Given the description of an element on the screen output the (x, y) to click on. 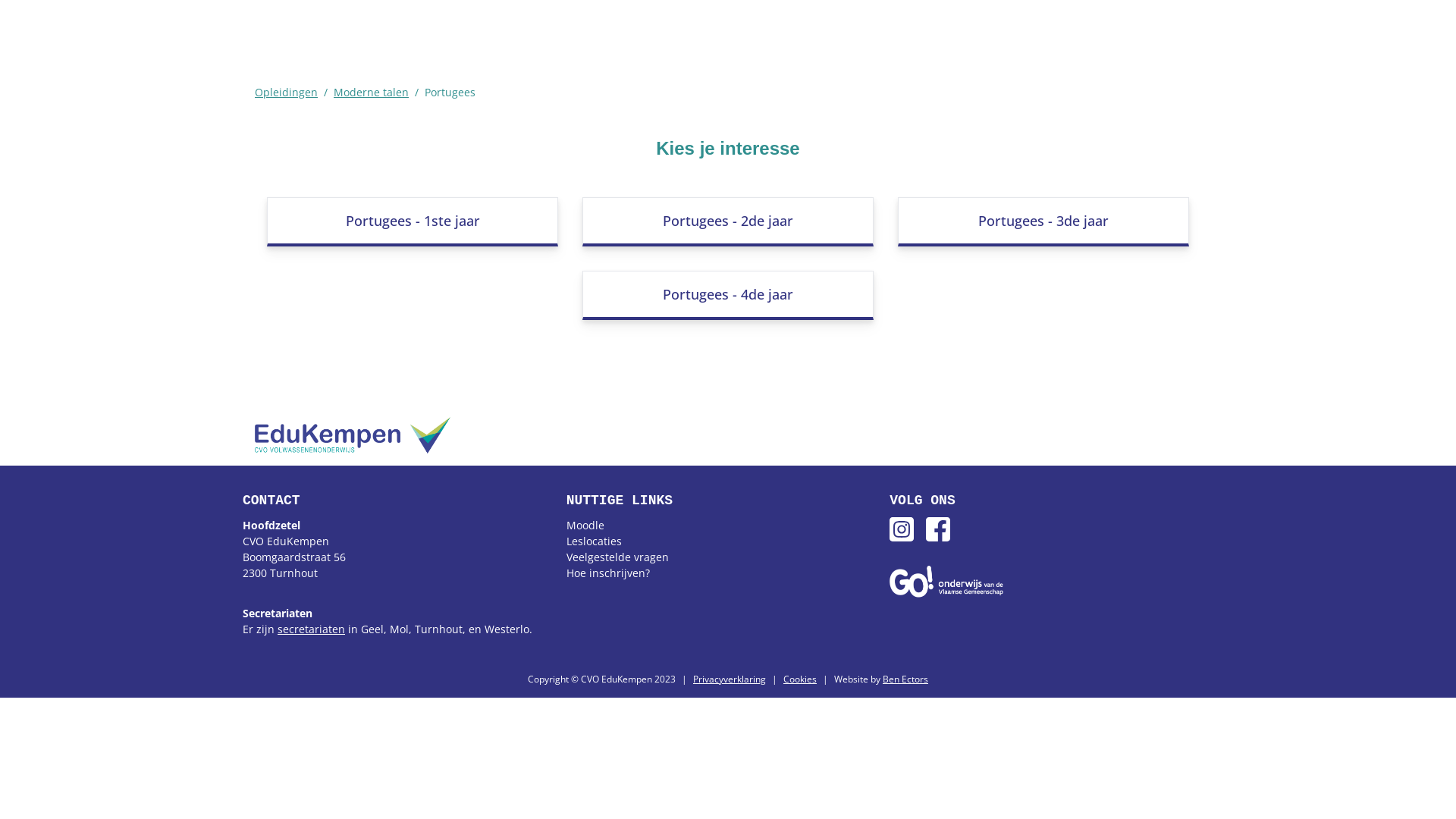
Veelgestelde vragen Element type: text (617, 556)
Leslocaties Element type: text (593, 540)
Portugees - 4de jaar Element type: text (727, 295)
Privacyverklaring Element type: text (729, 679)
Ben Ectors Element type: text (905, 678)
Moderne talen Element type: text (370, 92)
Cookies Element type: text (799, 679)
Moodle Element type: text (585, 524)
secretariaten Element type: text (311, 628)
Portugees - 3de jaar Element type: text (1043, 221)
Portugees - 2de jaar Element type: text (727, 221)
Hoe inschrijven? Element type: text (607, 572)
Opleidingen Element type: text (285, 92)
Portugees - 1ste jaar Element type: text (412, 221)
